Given the description of an element on the screen output the (x, y) to click on. 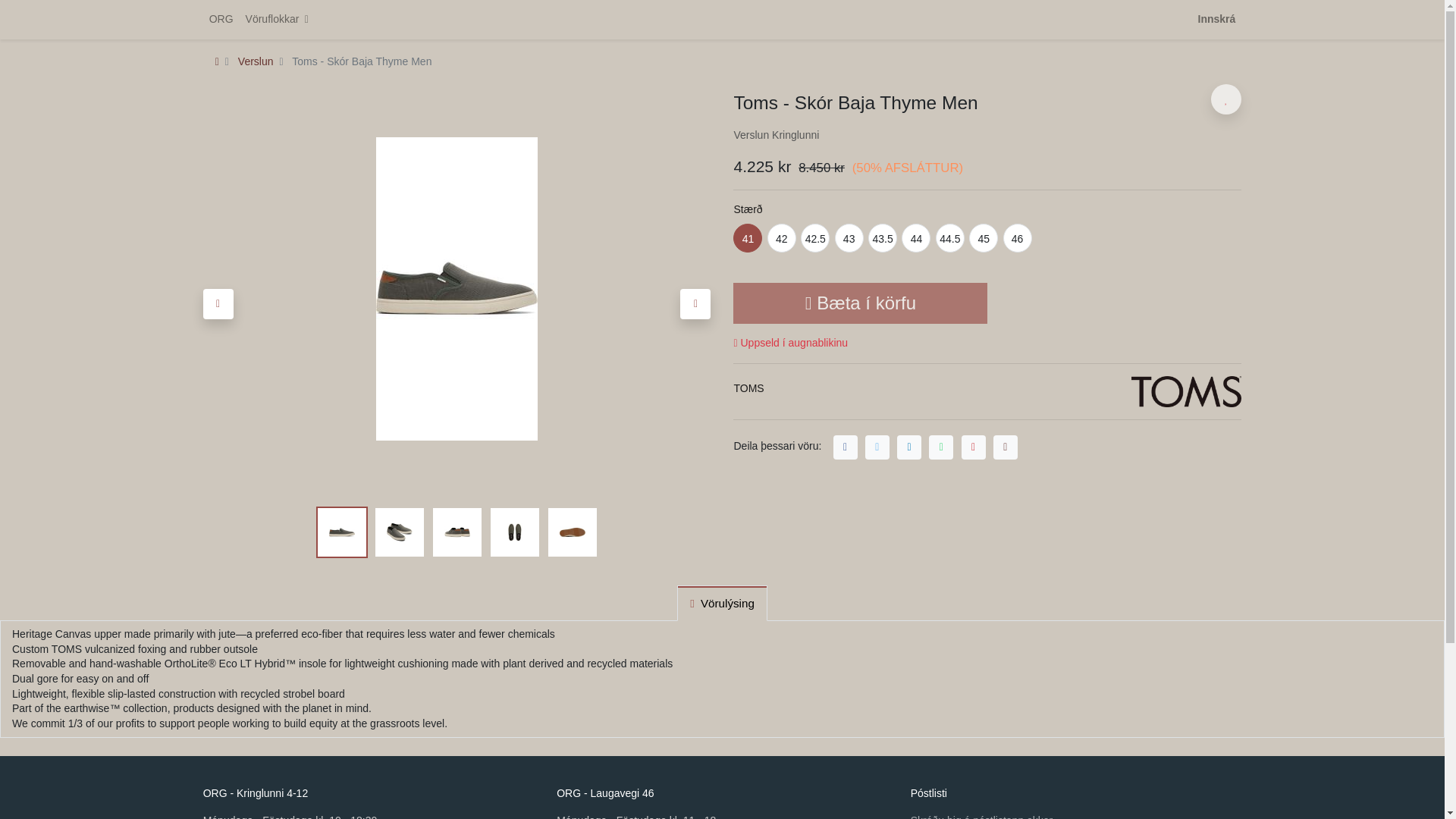
ORG (221, 19)
